Given the description of an element on the screen output the (x, y) to click on. 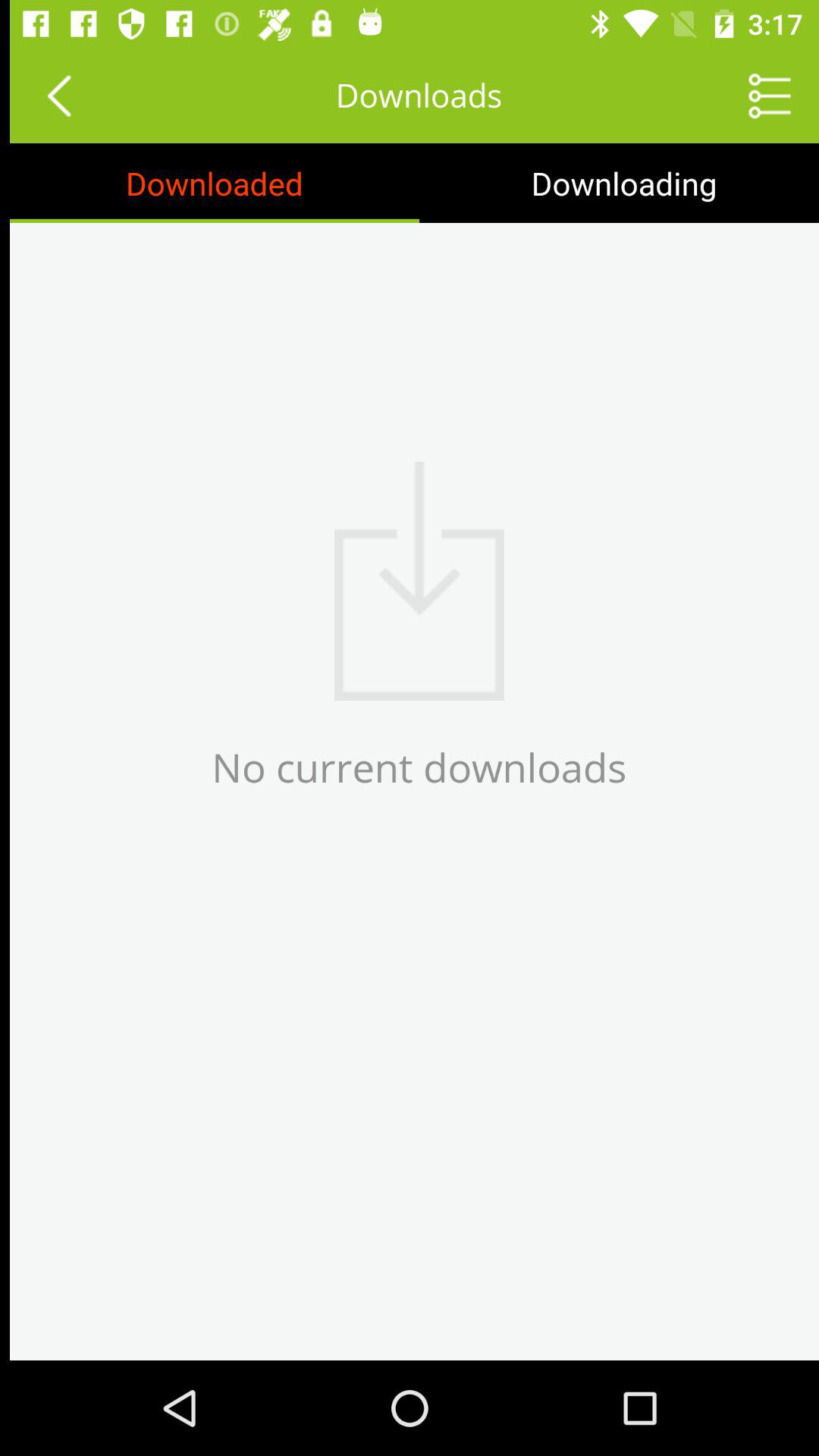
go back (48, 95)
